Given the description of an element on the screen output the (x, y) to click on. 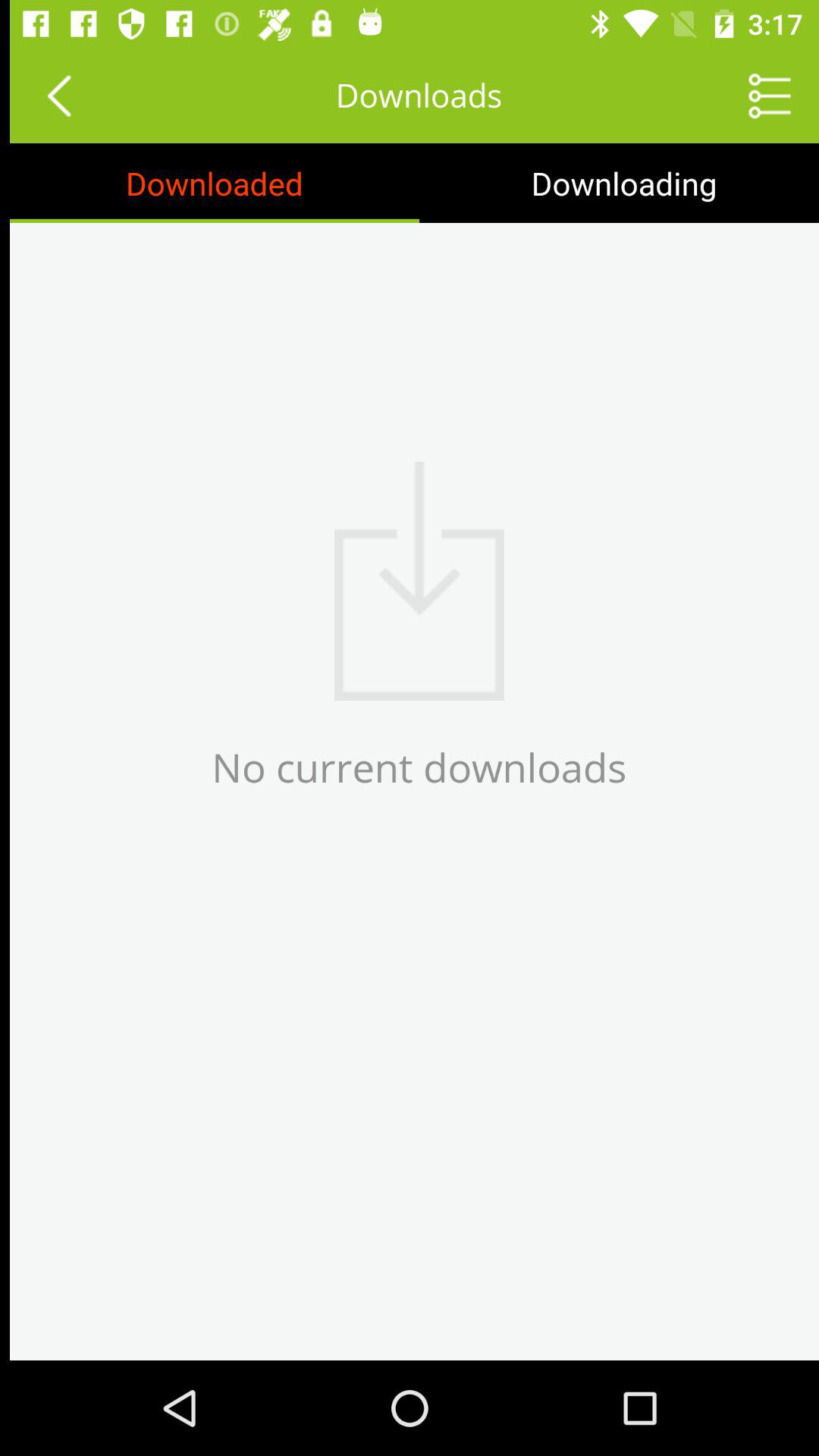
go back (48, 95)
